Given the description of an element on the screen output the (x, y) to click on. 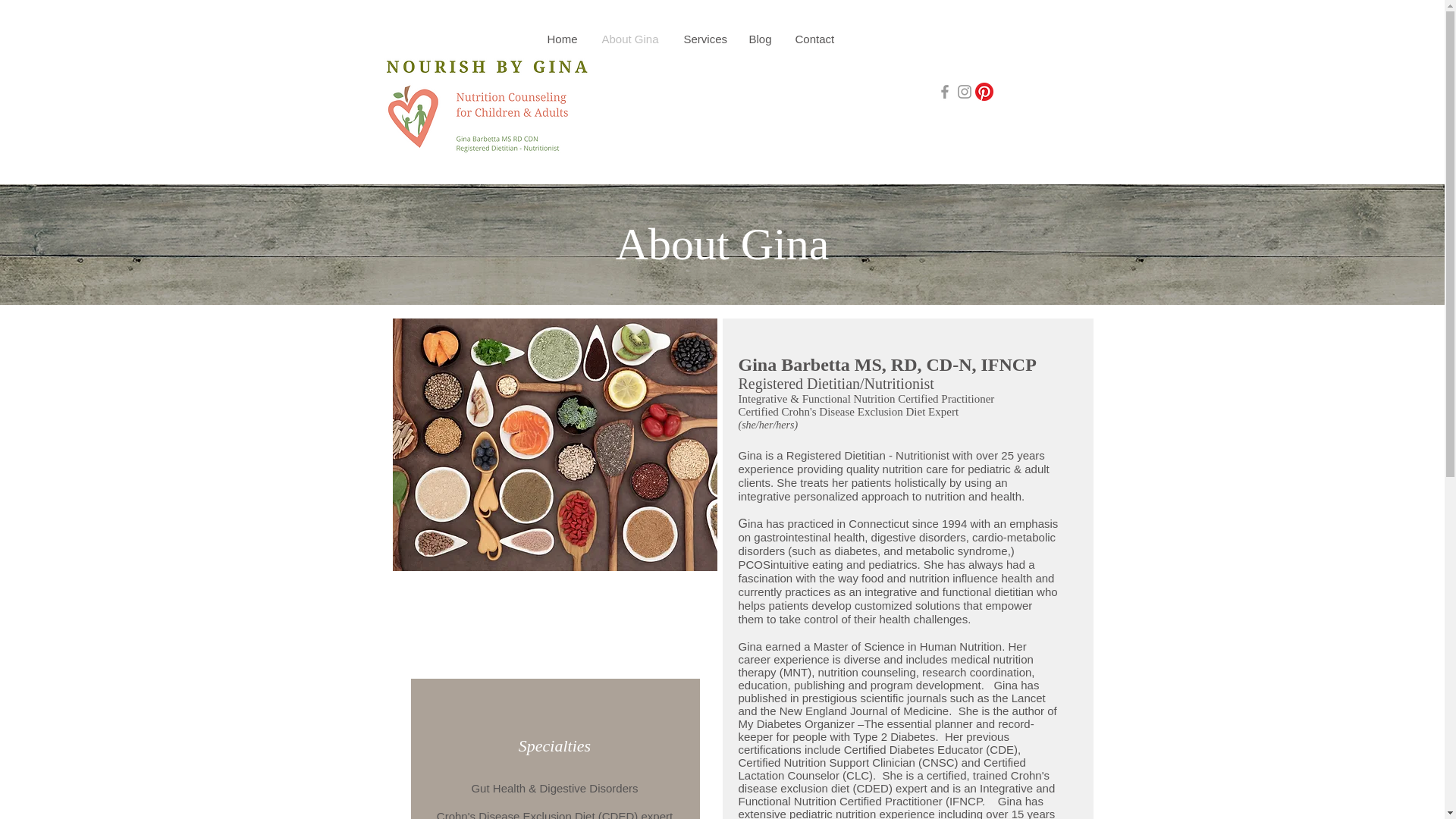
Blog (759, 38)
About Gina (630, 38)
Services (703, 38)
Home (562, 38)
Contact (814, 38)
